Given the description of an element on the screen output the (x, y) to click on. 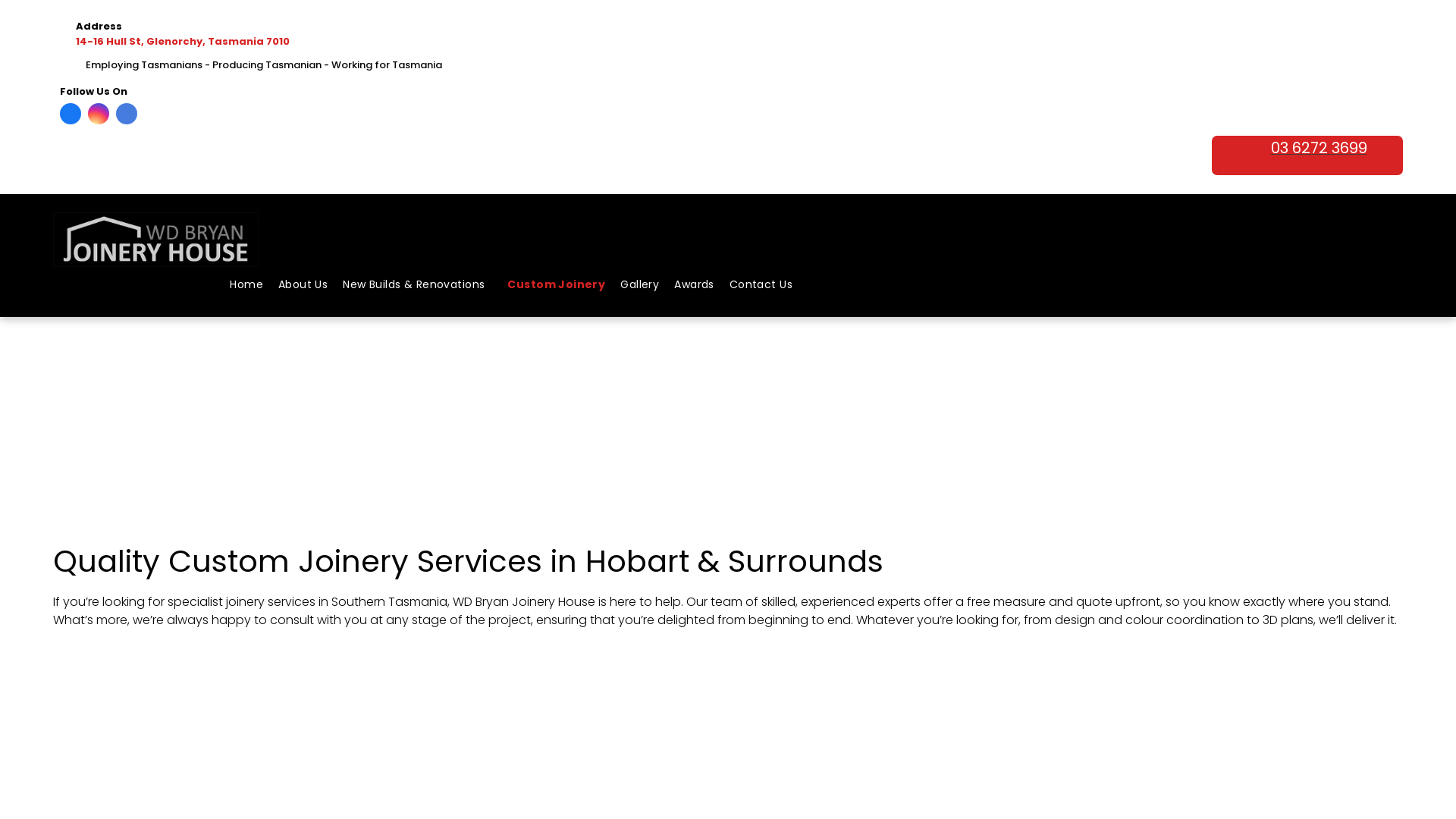
Awards Element type: text (693, 284)
Gallery Element type: text (639, 284)
Contact Us Element type: text (760, 284)
Custom Joinery Element type: text (555, 284)
Home Element type: text (246, 284)
14-16 Hull St, Glenorchy, Tasmania 7010 Element type: text (182, 40)
WD Bryan Joinery House Element type: hover (155, 239)
New Builds & Renovations Element type: text (417, 284)
03 6272 3699 Element type: text (1306, 154)
About Us Element type: text (302, 284)
